Given the description of an element on the screen output the (x, y) to click on. 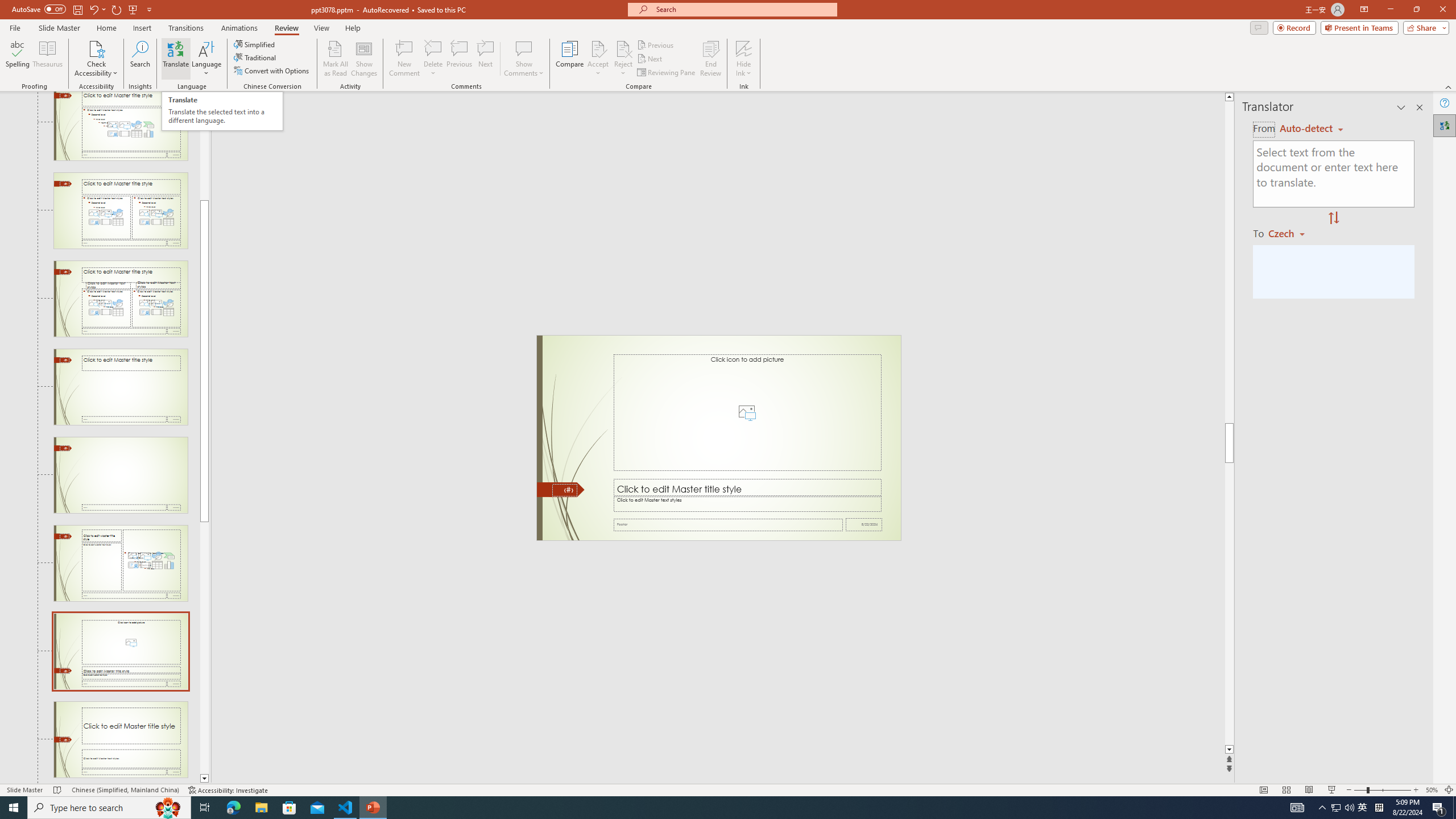
Mark All as Read (335, 58)
Date (863, 524)
Picture Placeholder 2 (746, 412)
Hide Ink (743, 48)
Slide Comparison Layout: used by no slides (120, 298)
Reject Change (622, 48)
Slide Content with Caption Layout: used by no slides (120, 563)
